Given the description of an element on the screen output the (x, y) to click on. 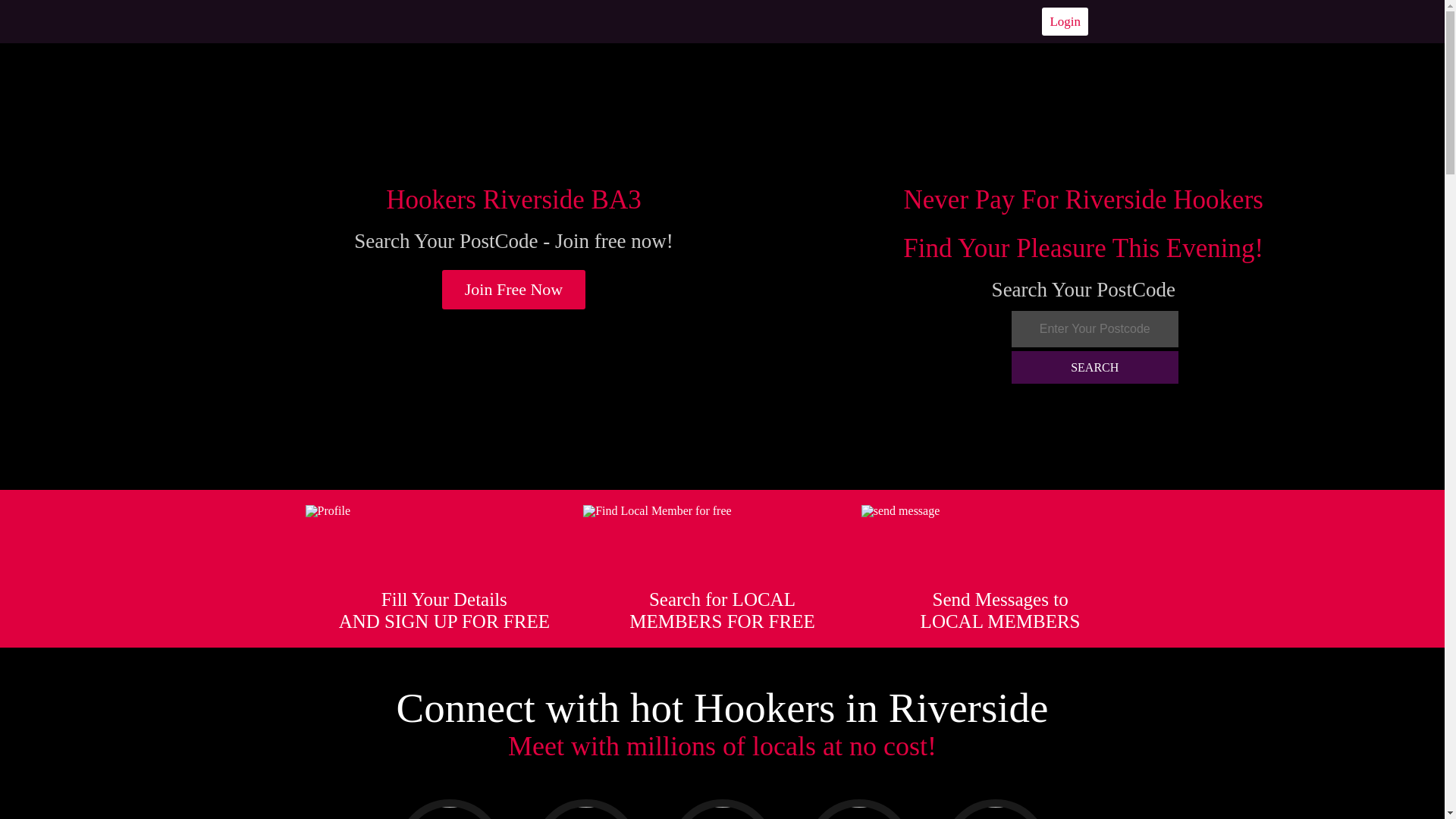
Join Free Now (514, 289)
Login (1064, 21)
Join (514, 289)
SEARCH (1094, 367)
Login (1064, 21)
